Given the description of an element on the screen output the (x, y) to click on. 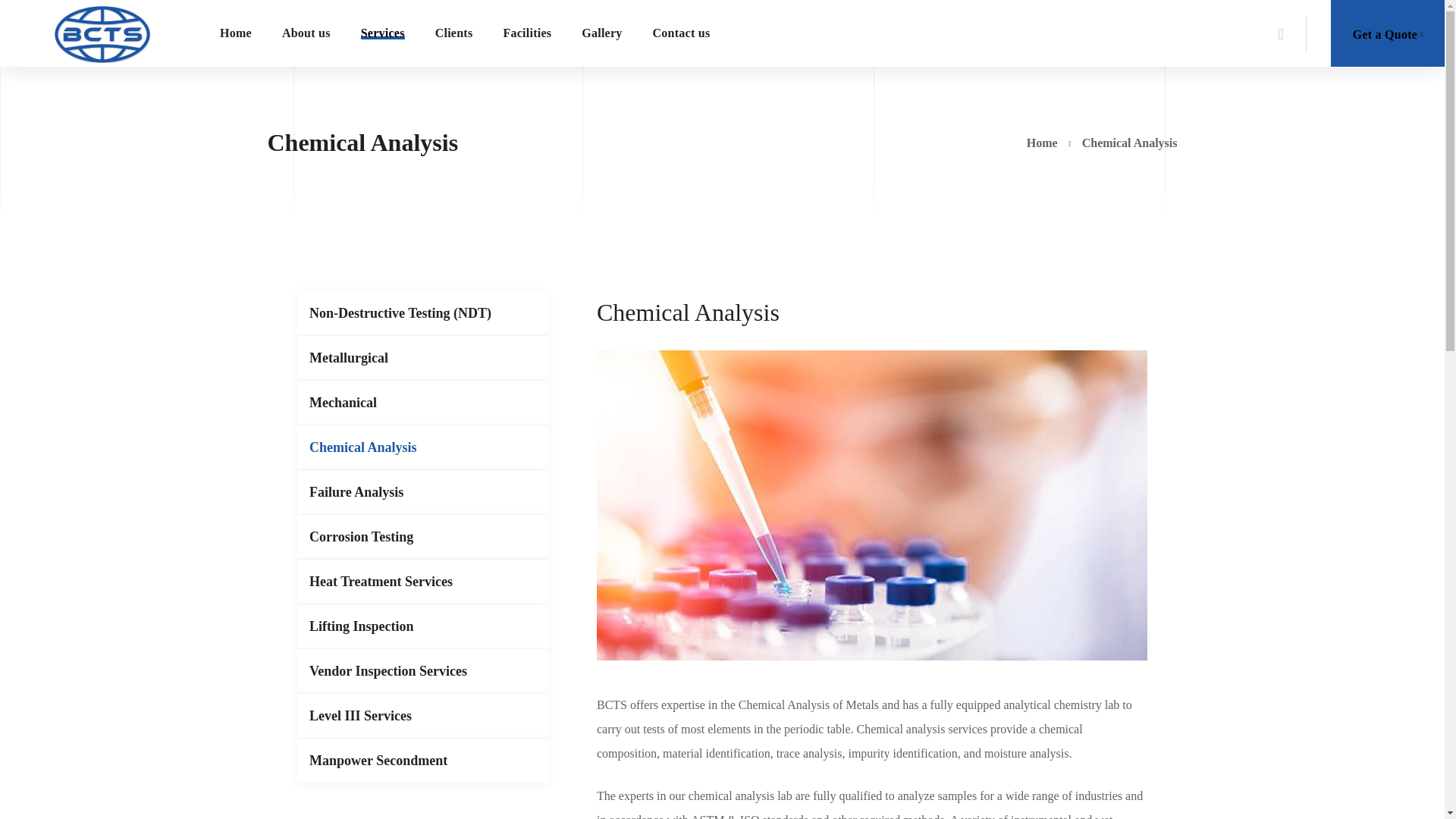
BEST CHOICE TESTING SERVICES (102, 33)
